Given the description of an element on the screen output the (x, y) to click on. 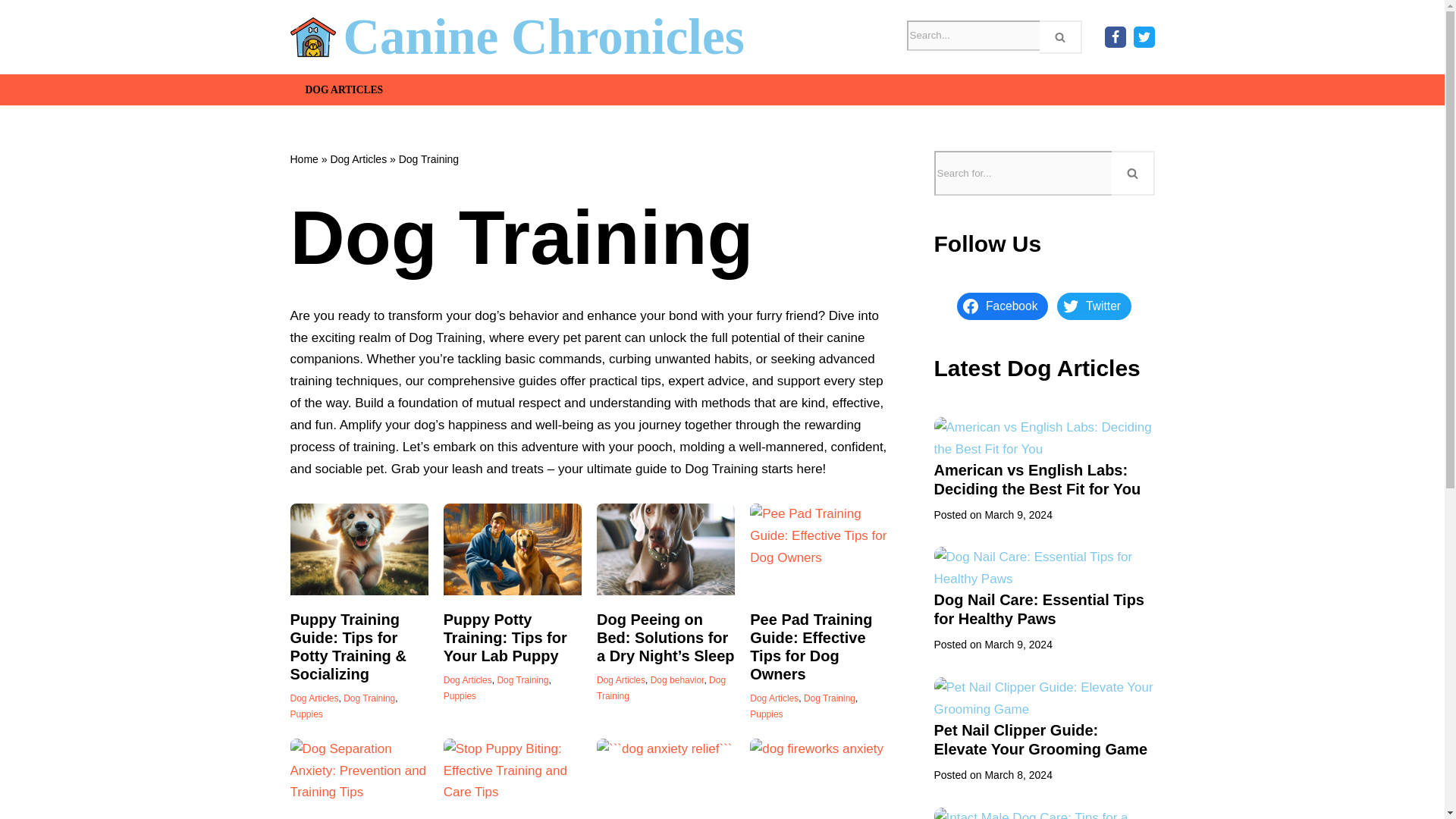
Facebook (1114, 36)
Pee Pad Training Guide: Effective Tips for Dog Owners (818, 549)
X (1143, 36)
Dog Separation Anxiety: Prevention and Training Tips (358, 778)
Skip to content (11, 31)
Stop Puppy Biting: Effective Training and Care Tips (512, 778)
DOG ARTICLES (343, 89)
Canine Chronicles (516, 40)
Puppy Potty Training: Tips for Your Lab Puppy (512, 549)
Dog Fireworks Anxiety: Strategies for a Calmer Pet (818, 778)
